Given the description of an element on the screen output the (x, y) to click on. 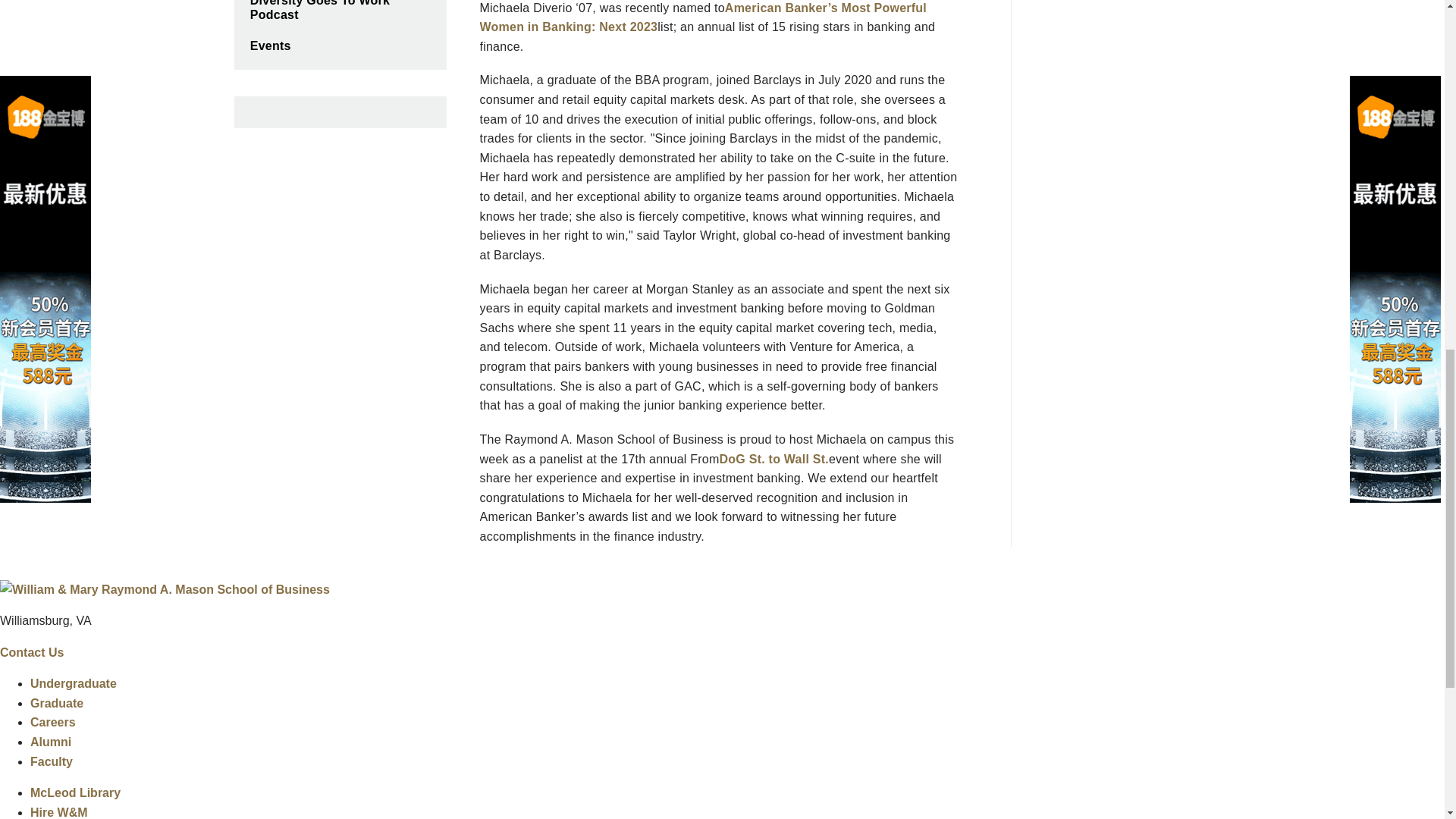
Careers (52, 721)
Diversity Goes To Work Podcast (338, 15)
Undergraduate (73, 683)
McLeod Library (75, 792)
Events (338, 46)
DoG St. to Wall St. (773, 459)
Diversity Goes To Work Podcast (338, 15)
Faculty (51, 761)
Alumni (50, 741)
Graduate (56, 703)
Events (338, 46)
Contact Us (32, 652)
